Given the description of an element on the screen output the (x, y) to click on. 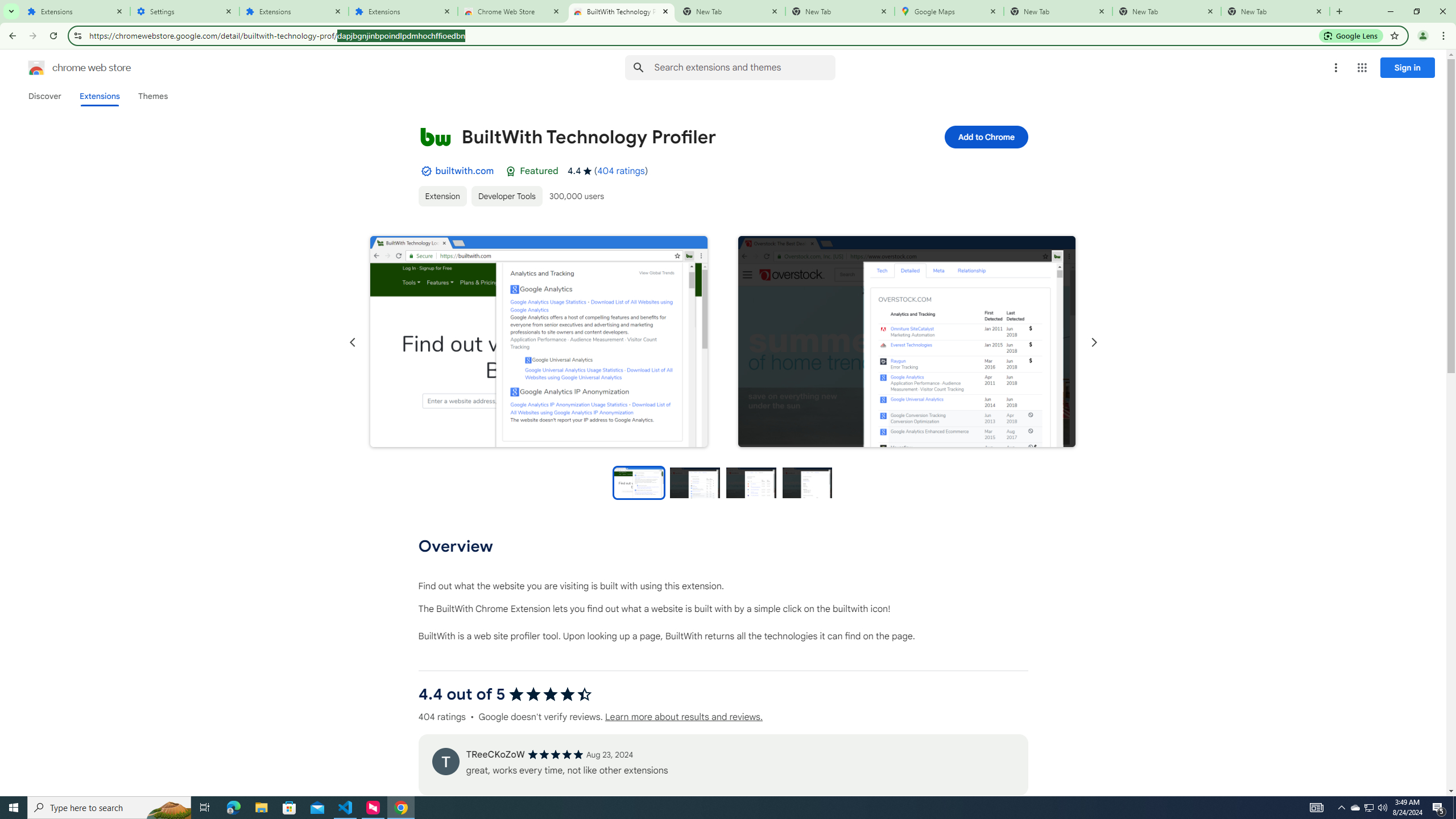
404 ratings (620, 170)
Learn more about results and reviews. (683, 716)
Item media 2 screenshot (906, 342)
BuiltWith Technology Profiler - Chrome Web Store (621, 11)
Extension (442, 195)
Extensions (403, 11)
Discover (43, 95)
Preview slide 4 (807, 482)
Preview slide 3 (751, 482)
